Given the description of an element on the screen output the (x, y) to click on. 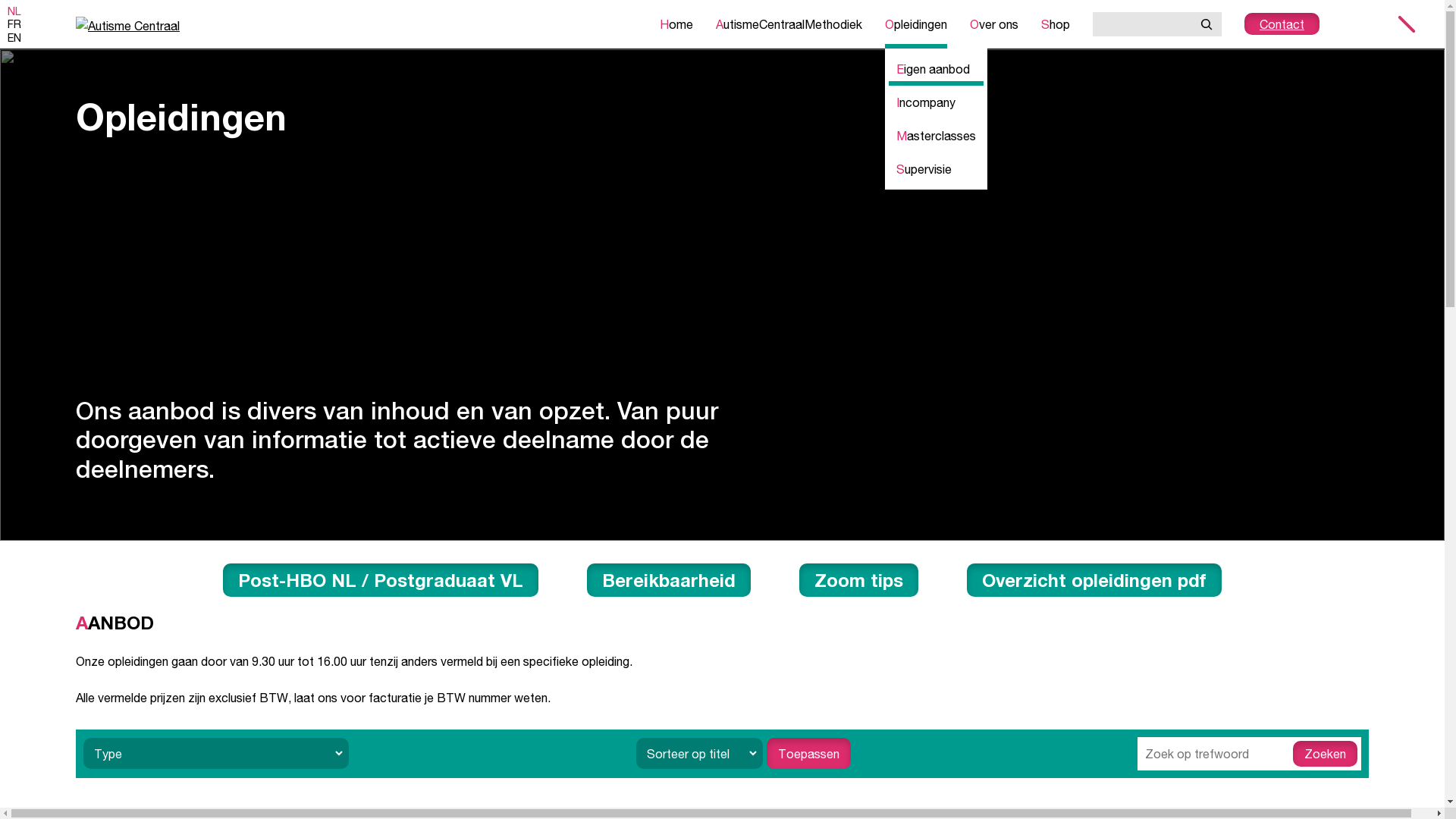
EN Element type: text (14, 37)
Post-HBO NL / Postgraduaat VL Element type: text (380, 579)
Eigen aanbod Element type: text (935, 68)
Supervisie Element type: text (935, 168)
Toepassen Element type: text (807, 752)
Shop Element type: text (1055, 24)
Incompany Element type: text (935, 102)
Masterclasses Element type: text (935, 135)
NL Element type: text (14, 10)
FR Element type: text (14, 23)
Overzicht opleidingen pdf Element type: text (1093, 579)
Over ons Element type: text (993, 24)
Bereikbaarheid Element type: text (668, 579)
Home Element type: text (676, 24)
Zoom tips Element type: text (858, 579)
Zoeken Element type: text (1324, 753)
Opleidingen Element type: text (915, 24)
AutismeCentraalMethodiek Element type: text (788, 24)
Contact Element type: text (1281, 23)
